Given the description of an element on the screen output the (x, y) to click on. 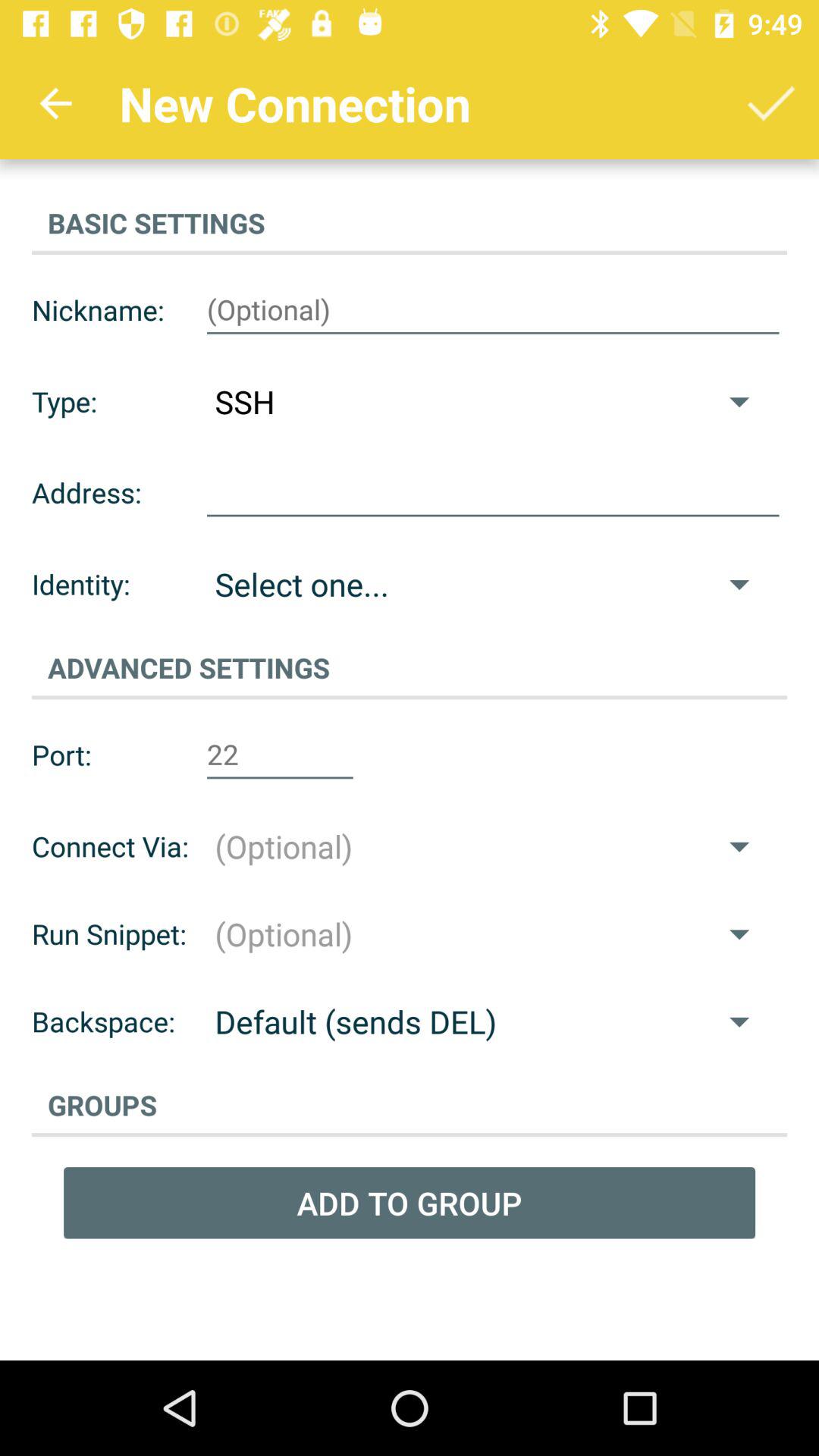
open text box (493, 492)
